Given the description of an element on the screen output the (x, y) to click on. 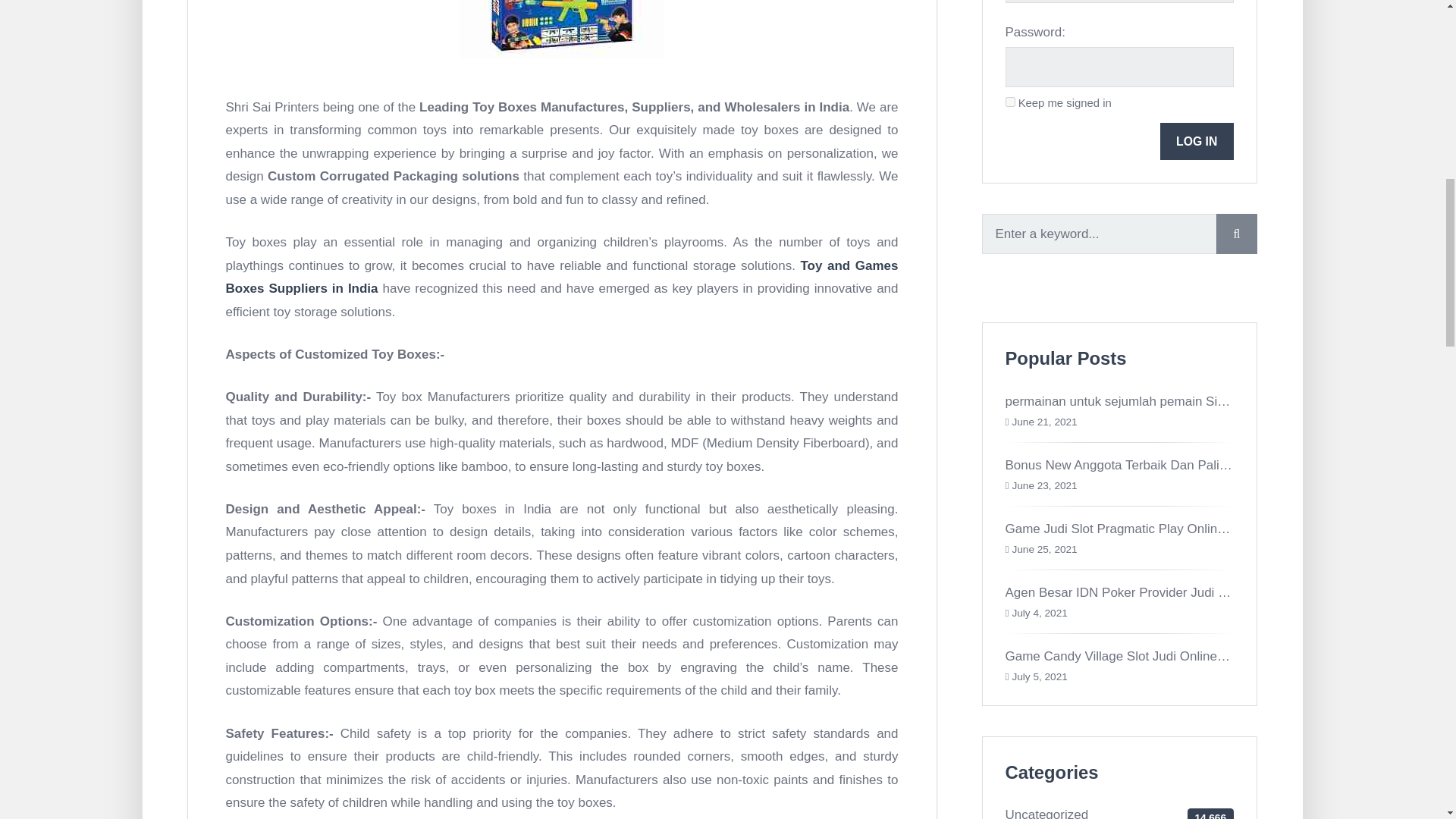
Toy and Games Boxes Suppliers in India (561, 277)
LOG IN (1196, 140)
forever (1010, 102)
June 23, 2021 (1044, 485)
Bonus New Anggota Terbaik Dan Paling dipercaya Tentu Gacor (1186, 464)
June 25, 2021 (1044, 549)
June 21, 2021 (1044, 421)
